Given the description of an element on the screen output the (x, y) to click on. 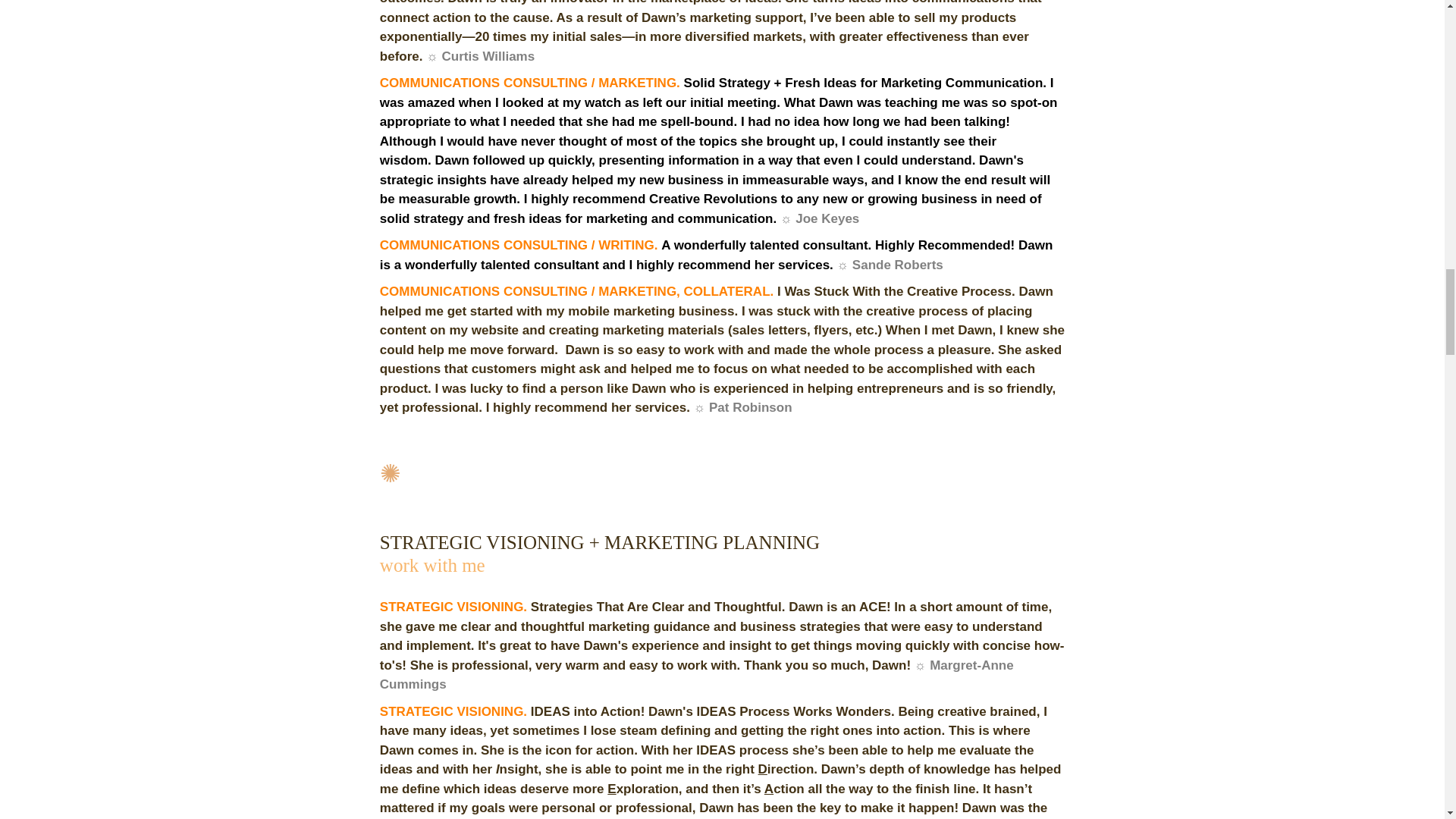
Work with Dawn Strategic Visioning (432, 565)
